Given the description of an element on the screen output the (x, y) to click on. 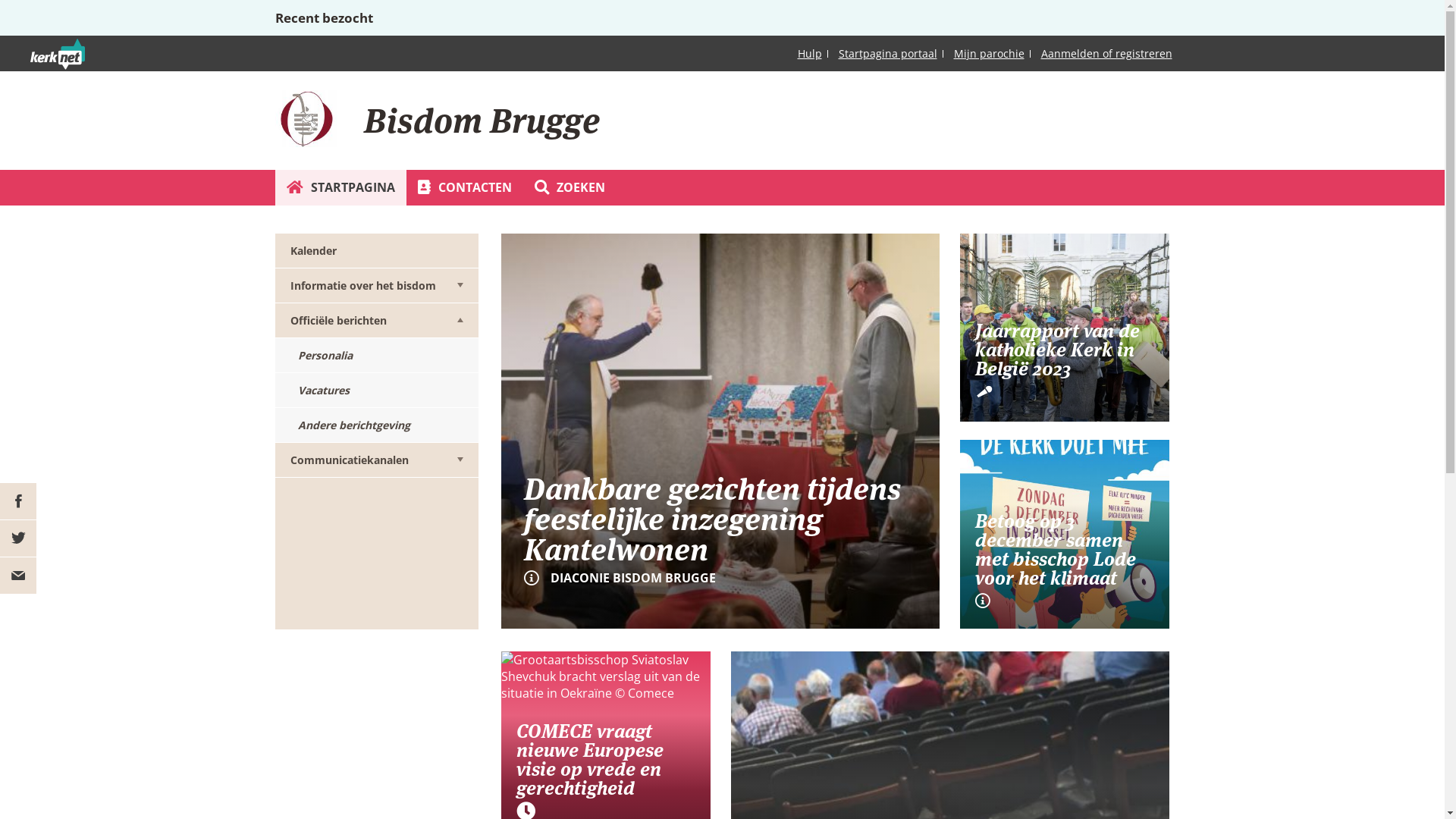
readmore Element type: text (720, 430)
ZOEKEN Element type: text (569, 187)
Vacatures Element type: text (375, 390)
Bisdom Brugge Element type: hover (305, 118)
Startpagina portaal Element type: text (887, 53)
Personalia Element type: text (375, 355)
STARTPAGINA Element type: text (339, 187)
kerknet Element type: text (91, 72)
readmore Element type: text (1064, 533)
Klimaatmars 2023  Element type: hover (1064, 533)
Aanmelden of registreren Element type: text (1105, 53)
Andere berichtgeving Element type: text (375, 424)
Mijn parochie Element type: text (988, 53)
CONTACTEN Element type: text (464, 187)
readmore Element type: text (1064, 327)
Hulp Element type: text (809, 53)
Overslaan en naar de inhoud gaan Element type: text (98, 0)
Kalender Element type: text (375, 250)
